Given the description of an element on the screen output the (x, y) to click on. 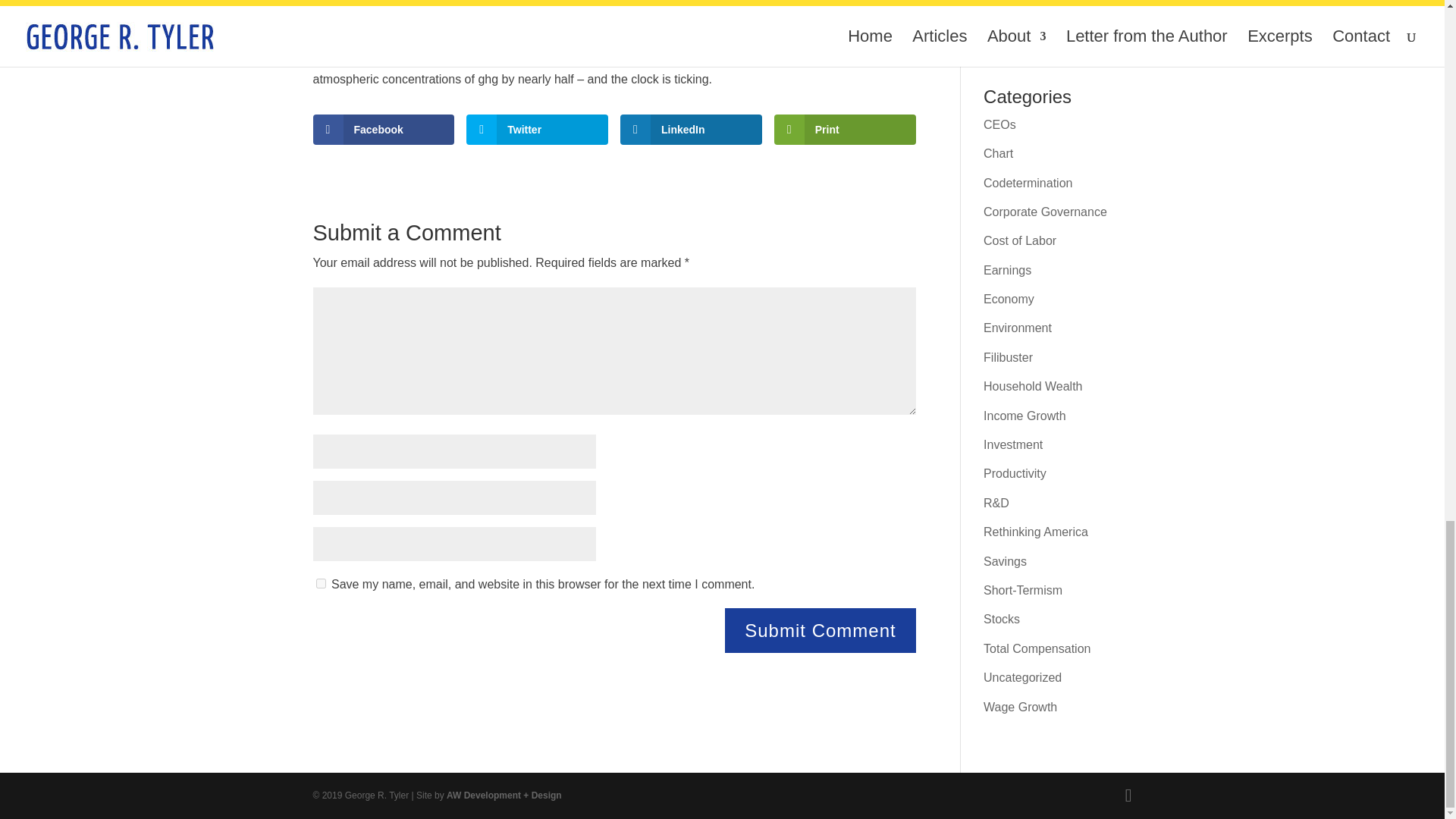
Twitter (536, 129)
is 50-80 feet higher (602, 13)
Submit Comment (820, 630)
LinkedIn (690, 129)
Facebook (383, 129)
yes (319, 583)
Print (844, 129)
